Given the description of an element on the screen output the (x, y) to click on. 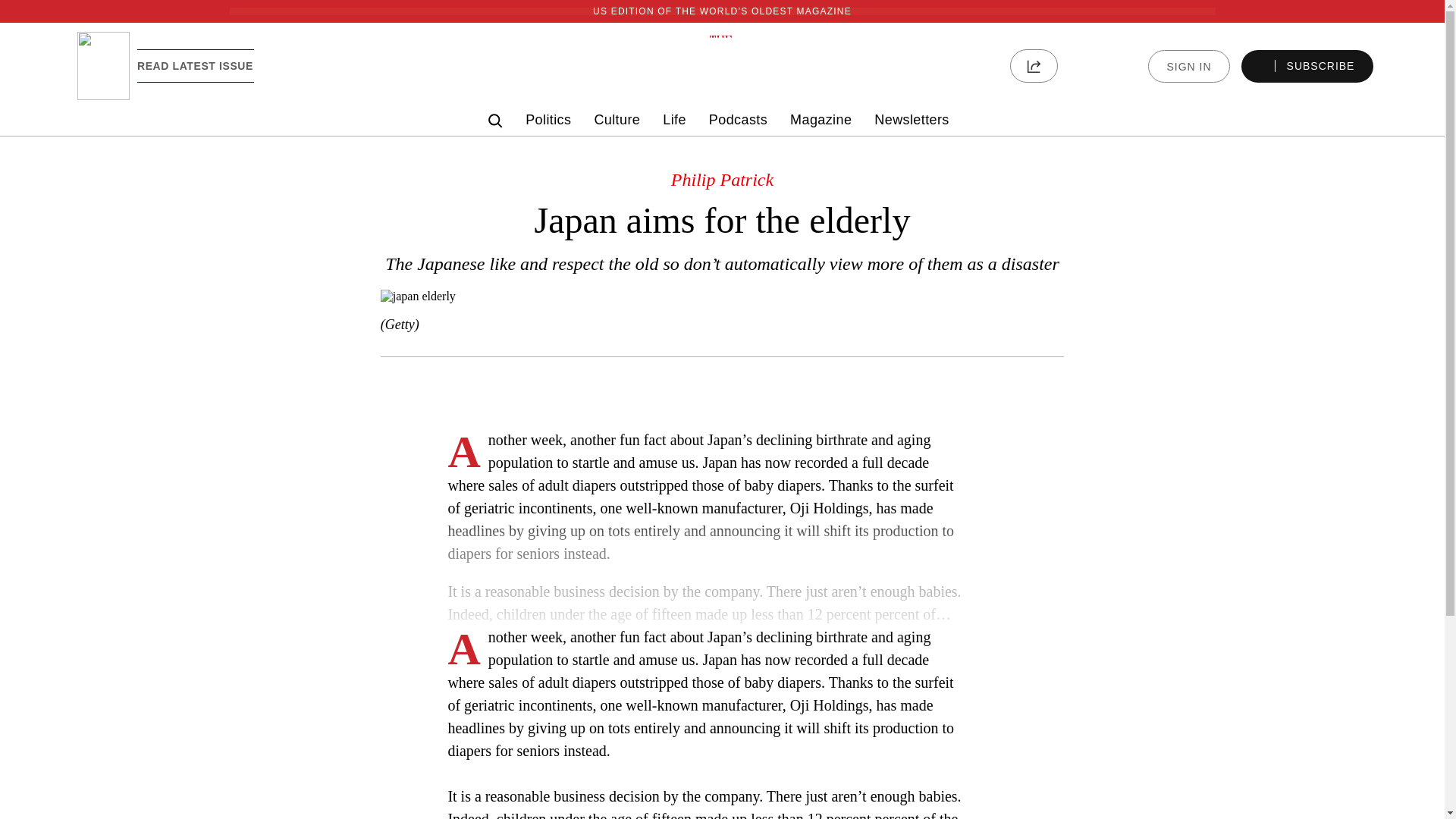
Newsletters (911, 119)
Magazine (820, 119)
Life (673, 119)
Philip Patrick (722, 179)
SUBSCRIBE (1307, 65)
READ LATEST ISSUE (194, 65)
Culture (616, 119)
Politics (547, 119)
Podcasts (737, 119)
SIGN IN (1188, 65)
